Given the description of an element on the screen output the (x, y) to click on. 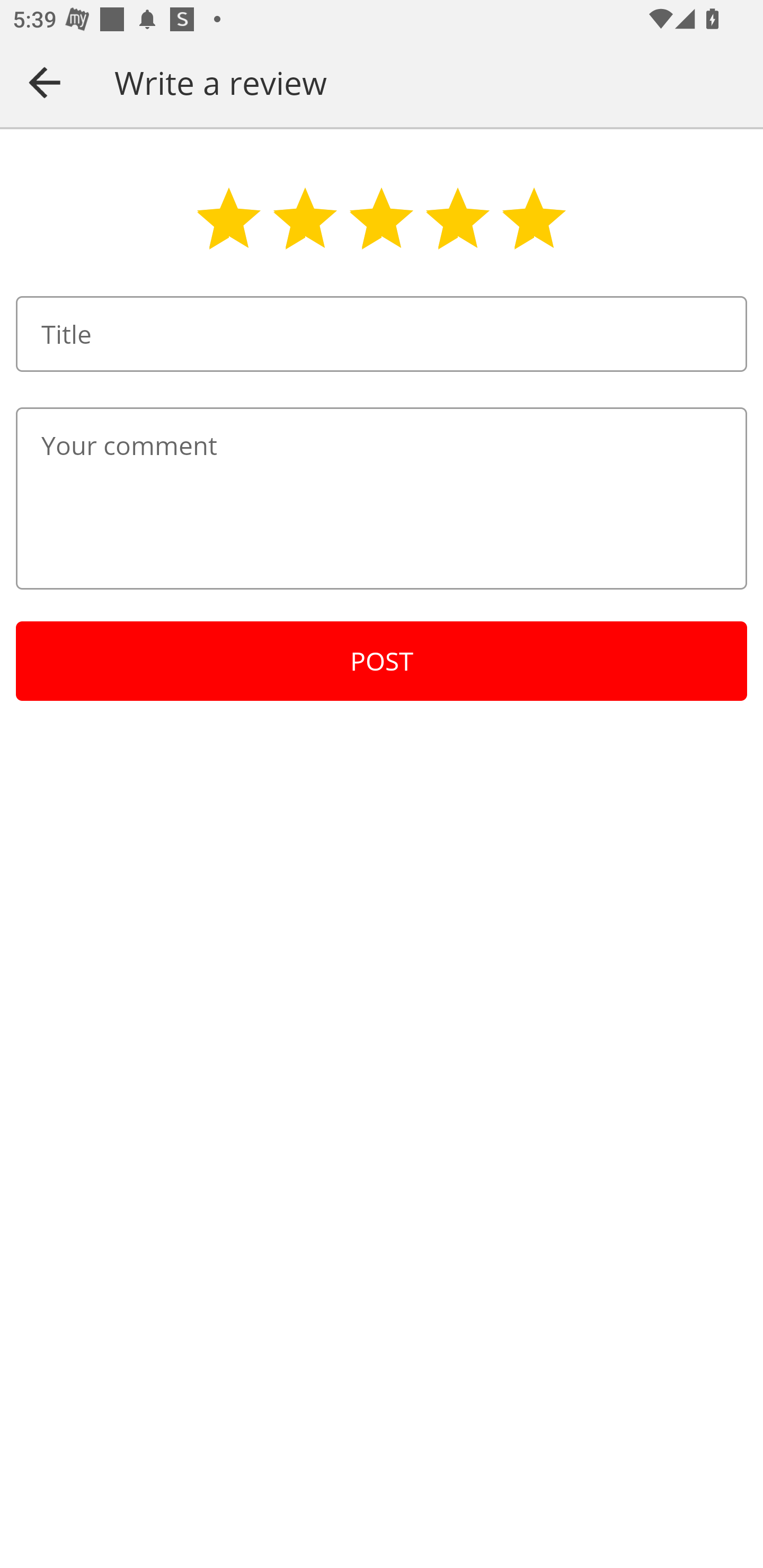
Navigate up (44, 82)
Title (381, 333)
Your comment (381, 498)
POST (381, 660)
